Given the description of an element on the screen output the (x, y) to click on. 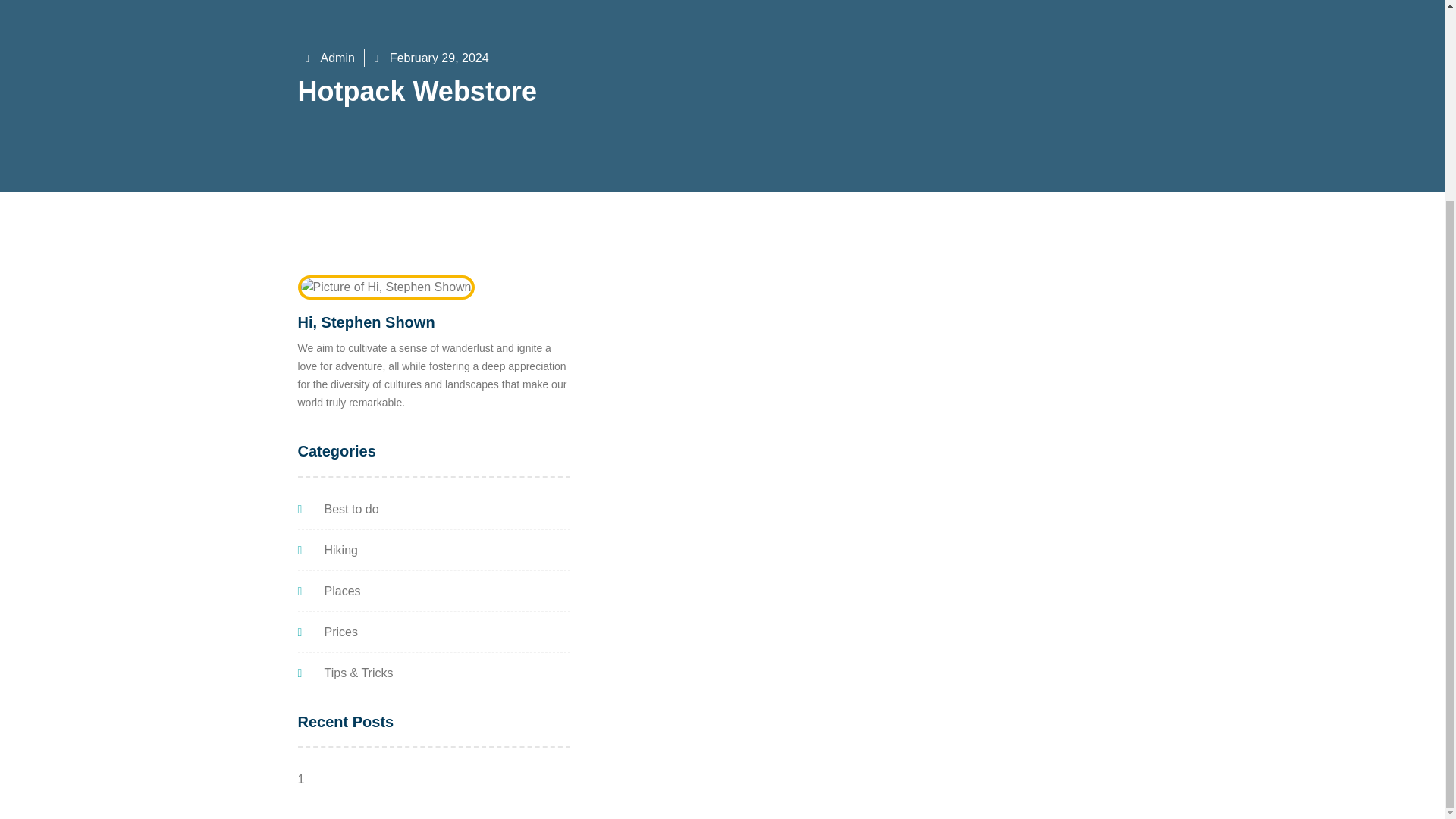
Best to do (433, 509)
Hiking (433, 550)
Places (433, 591)
February 29, 2024 (431, 58)
Admin (328, 58)
Prices (433, 632)
